Given the description of an element on the screen output the (x, y) to click on. 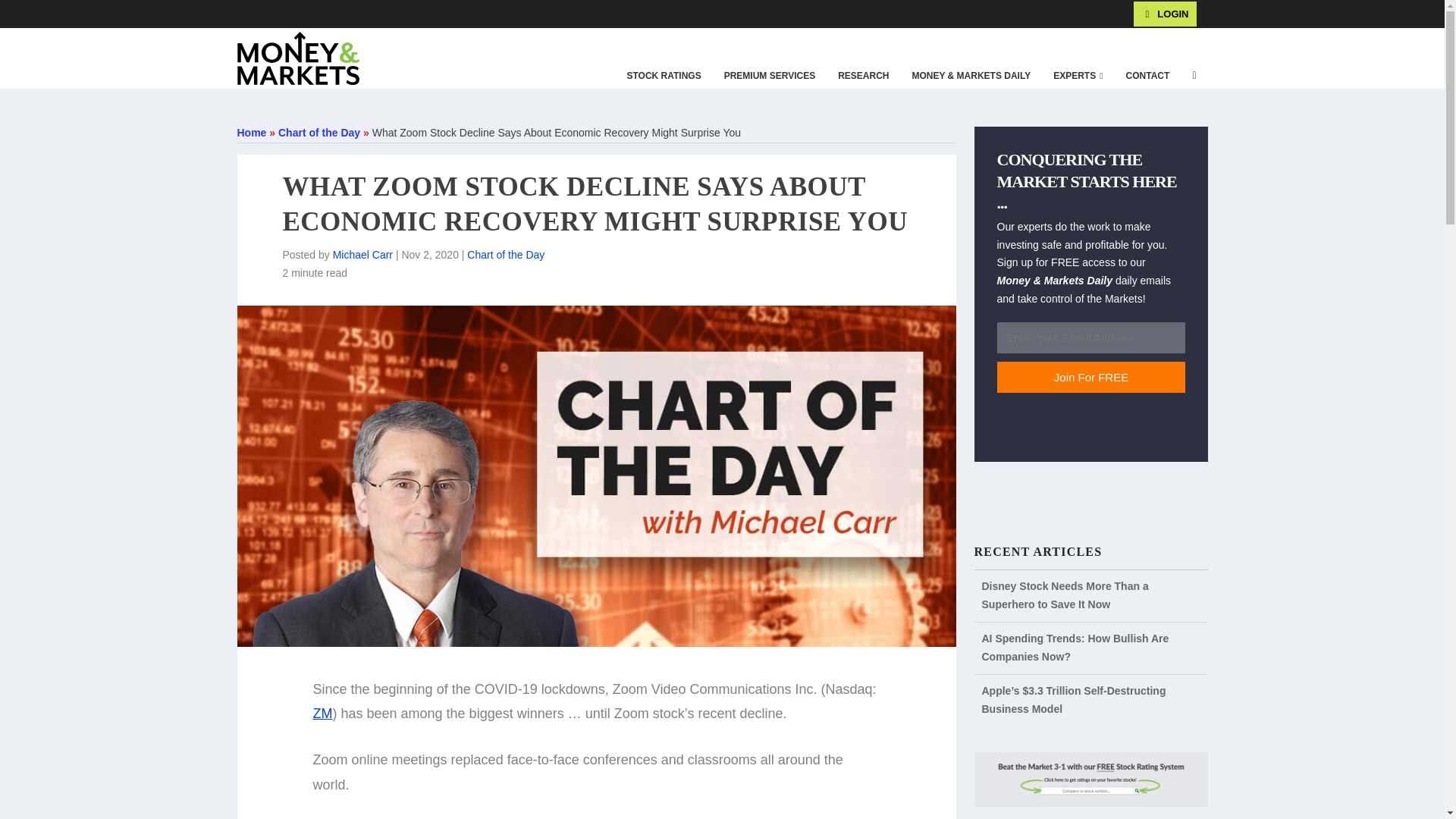
Chart of the Day (318, 132)
PREMIUM SERVICES (770, 75)
Disney Stock Needs More Than a Superhero to Save It Now (1064, 594)
Total Wealth Fellowship (253, 13)
Michael Carr (363, 254)
Posts by Michael Carr (363, 254)
AI Spending Trends: How Bullish Are Companies Now? (1075, 647)
EXPERTS (1077, 75)
Banyan Hill (173, 13)
Home (250, 132)
STOCK RATINGS (662, 75)
CONTACT (1147, 75)
RESEARCH (863, 75)
Chart of the Day (505, 254)
